Given the description of an element on the screen output the (x, y) to click on. 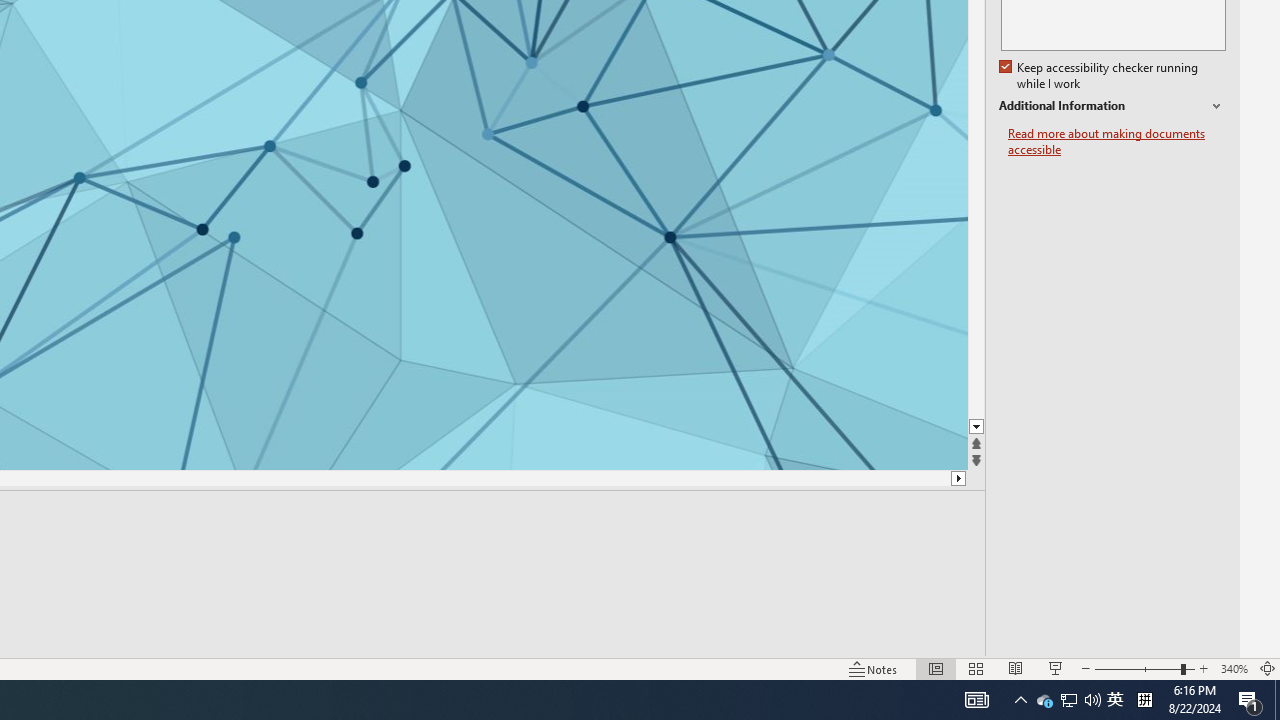
Zoom 340% (1234, 668)
